Given the description of an element on the screen output the (x, y) to click on. 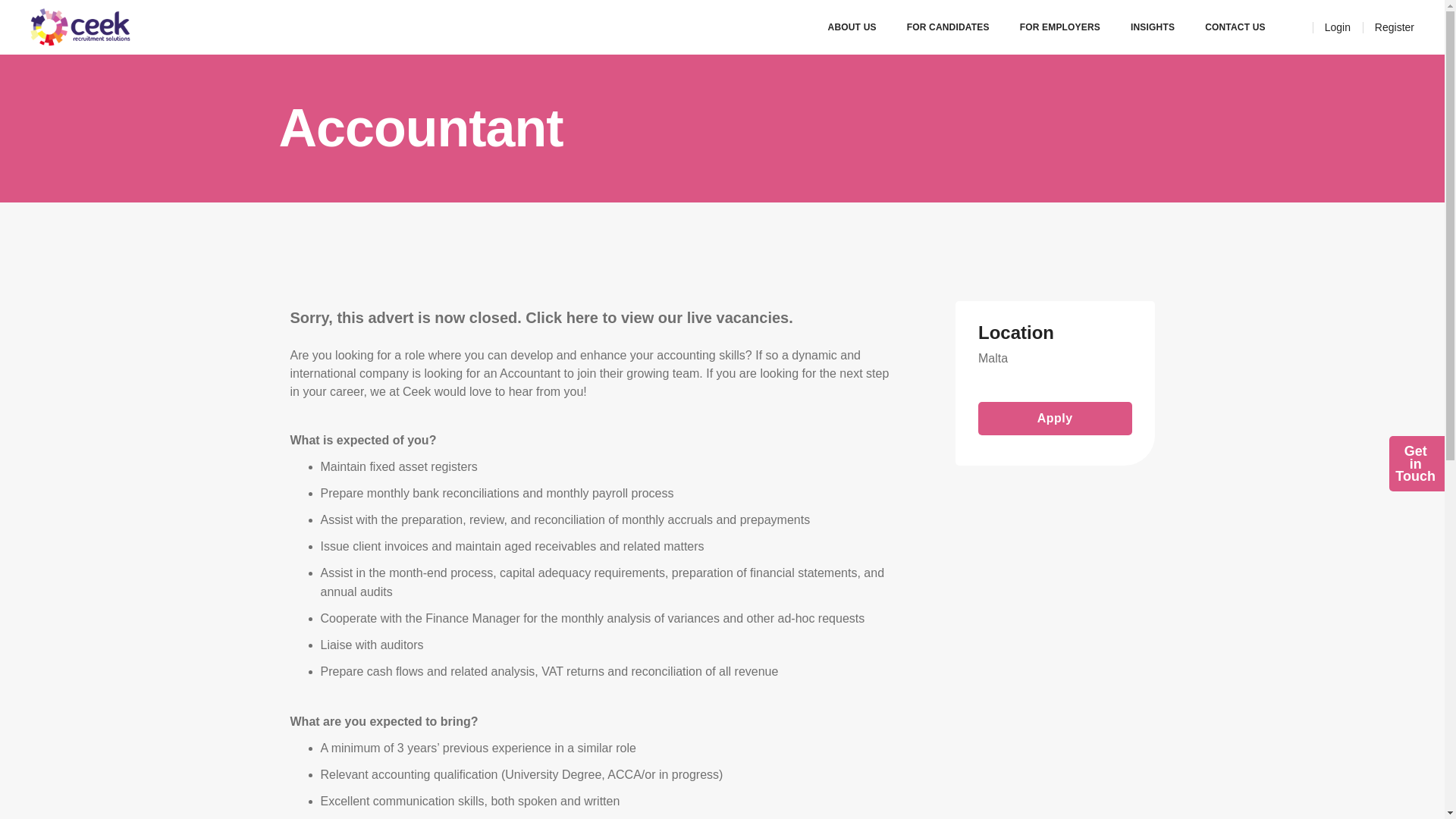
FOR EMPLOYERS (1414, 463)
here (1060, 27)
Ceek (582, 317)
FOR CANDIDATES (80, 26)
CONTACT US (948, 27)
Apply (1235, 27)
Login (1055, 418)
Register (1337, 27)
